Given the description of an element on the screen output the (x, y) to click on. 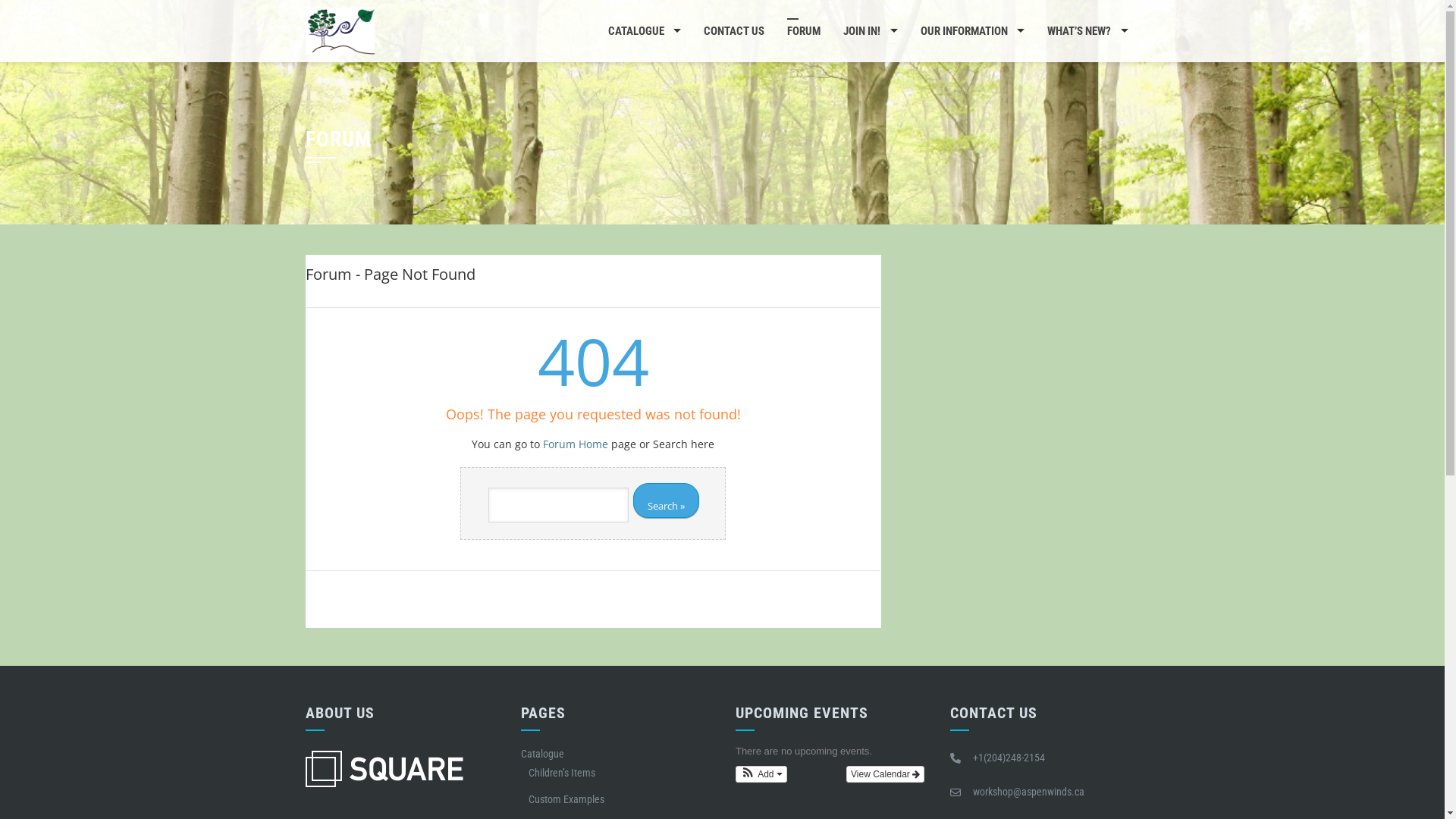
CONTACT US Element type: text (733, 31)
Custom Examples Element type: text (566, 799)
Catalogue Element type: text (542, 753)
CATALOGUE Element type: text (644, 31)
Forum Home Element type: text (575, 443)
OUR INFORMATION Element type: text (971, 31)
View Calendar Element type: text (885, 773)
JOIN IN! Element type: text (870, 31)
FORUM Element type: text (803, 31)
